Given the description of an element on the screen output the (x, y) to click on. 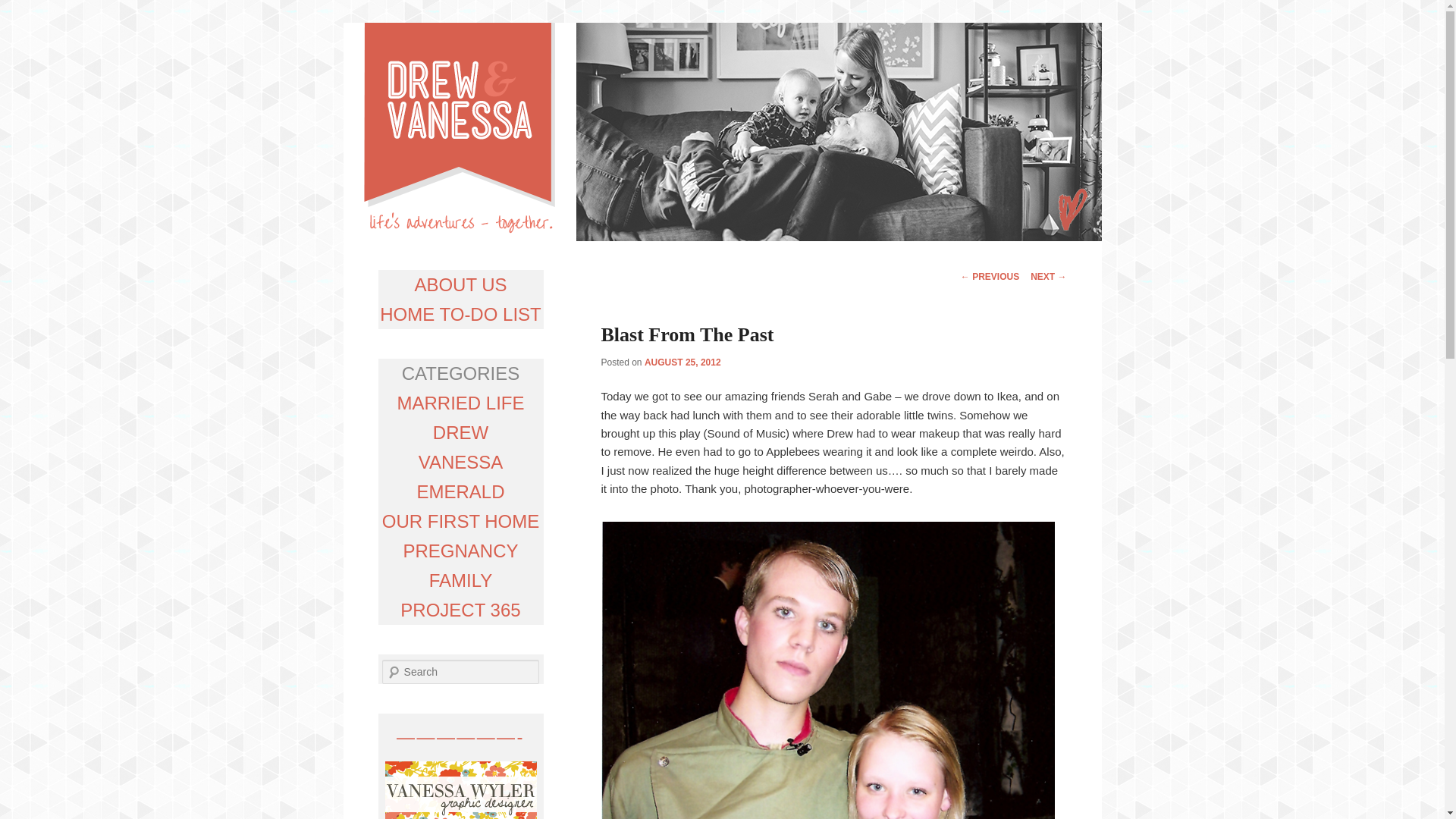
EMERALD (459, 491)
AUGUST 25, 2012 (682, 362)
PREGNANCY (460, 550)
7:25 pm (682, 362)
ABOUT US (459, 284)
Skip to primary content (547, 274)
HOME TO-DO LIST (460, 313)
Skip to secondary content (564, 274)
PROJECT 365 (459, 609)
VANESSA (461, 462)
OUR FIRST HOME (460, 521)
MARRIED LIFE (460, 403)
DREW (459, 432)
Search (21, 11)
